Given the description of an element on the screen output the (x, y) to click on. 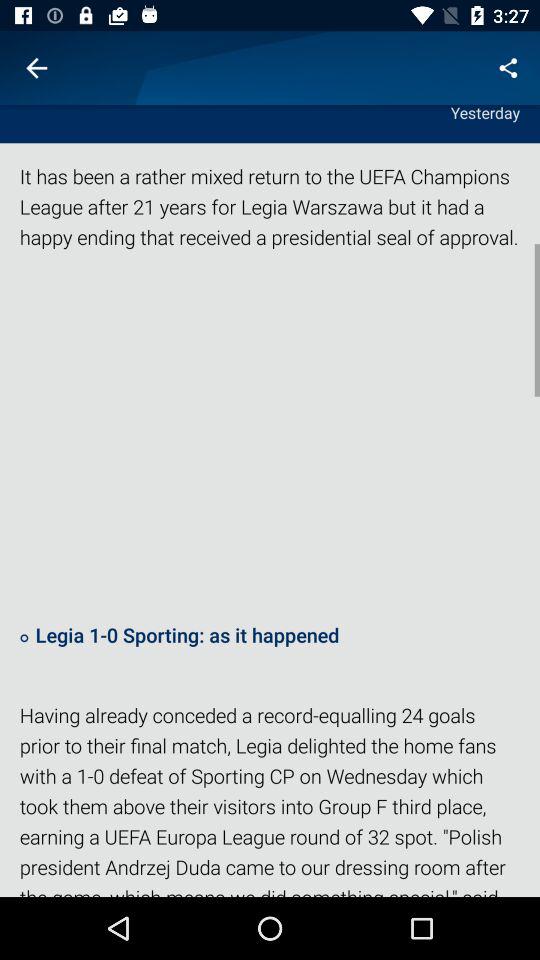
turn on it has been icon (269, 215)
